Given the description of an element on the screen output the (x, y) to click on. 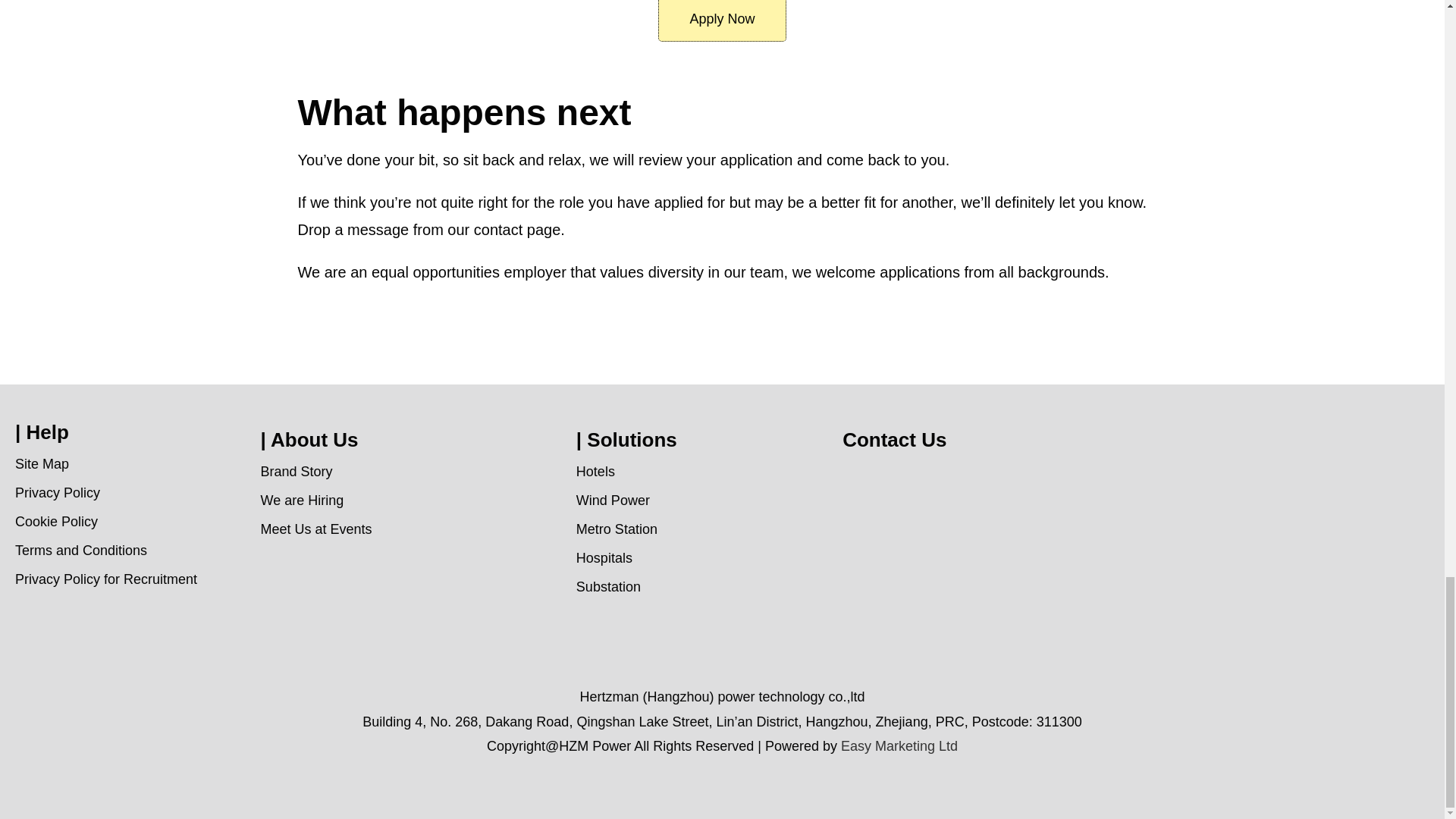
Easy Marketing Ltd (899, 745)
Apply Now (722, 20)
Site Map (41, 463)
Brand Story (295, 471)
Privacy Policy (57, 492)
Terms and Conditions (80, 549)
Privacy Policy for Recruitment (105, 579)
Cookie Policy (55, 521)
We are Hiring (301, 500)
